Given the description of an element on the screen output the (x, y) to click on. 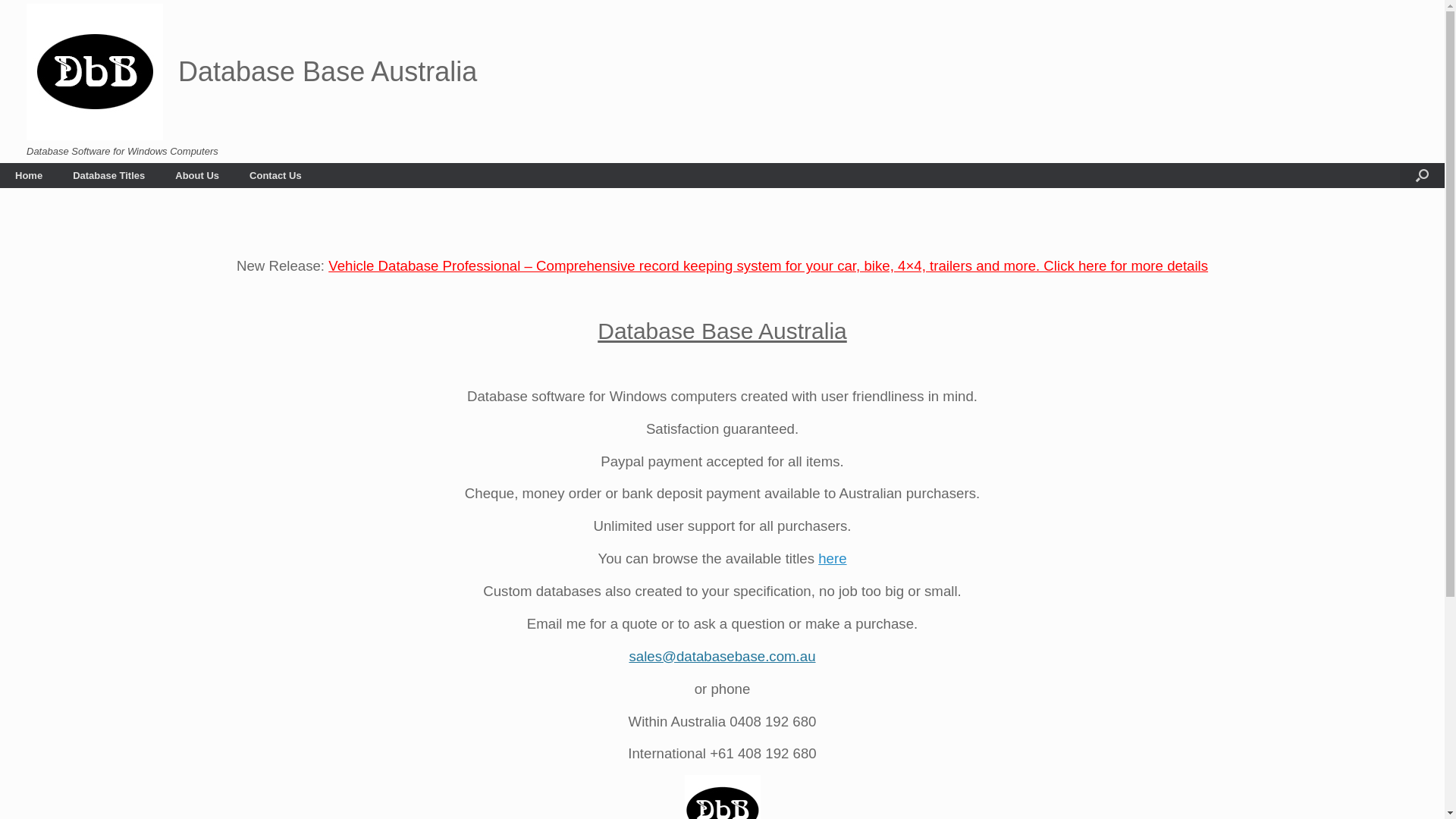
Database Titles Element type: text (108, 174)
sales@databasebase.com.au Element type: text (721, 656)
Home Element type: text (28, 174)
here Element type: text (832, 558)
About Us Element type: text (197, 174)
Contact Us Element type: text (275, 174)
Database Base Australia Element type: text (251, 71)
